Given the description of an element on the screen output the (x, y) to click on. 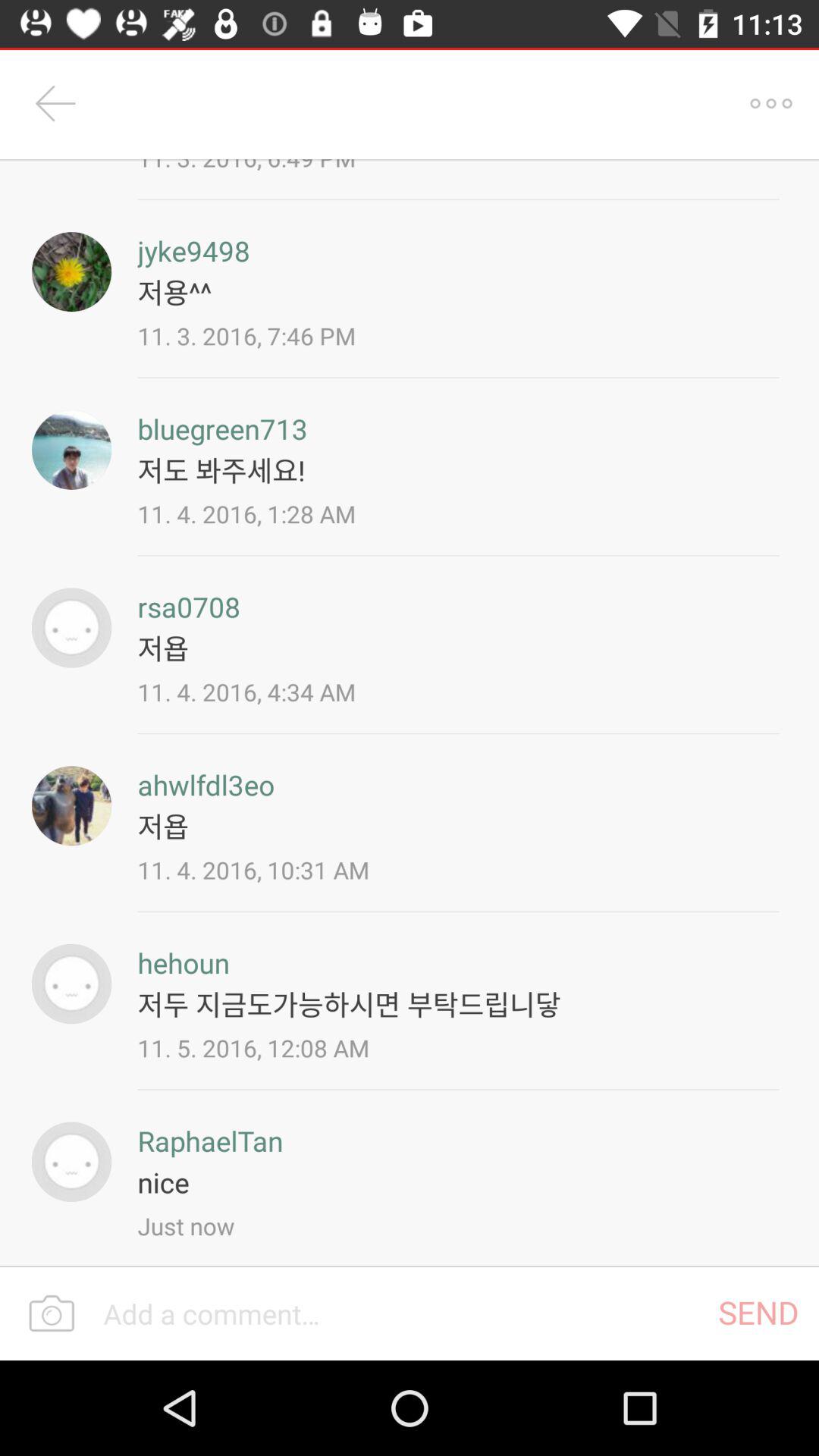
to view the person (71, 1161)
